Given the description of an element on the screen output the (x, y) to click on. 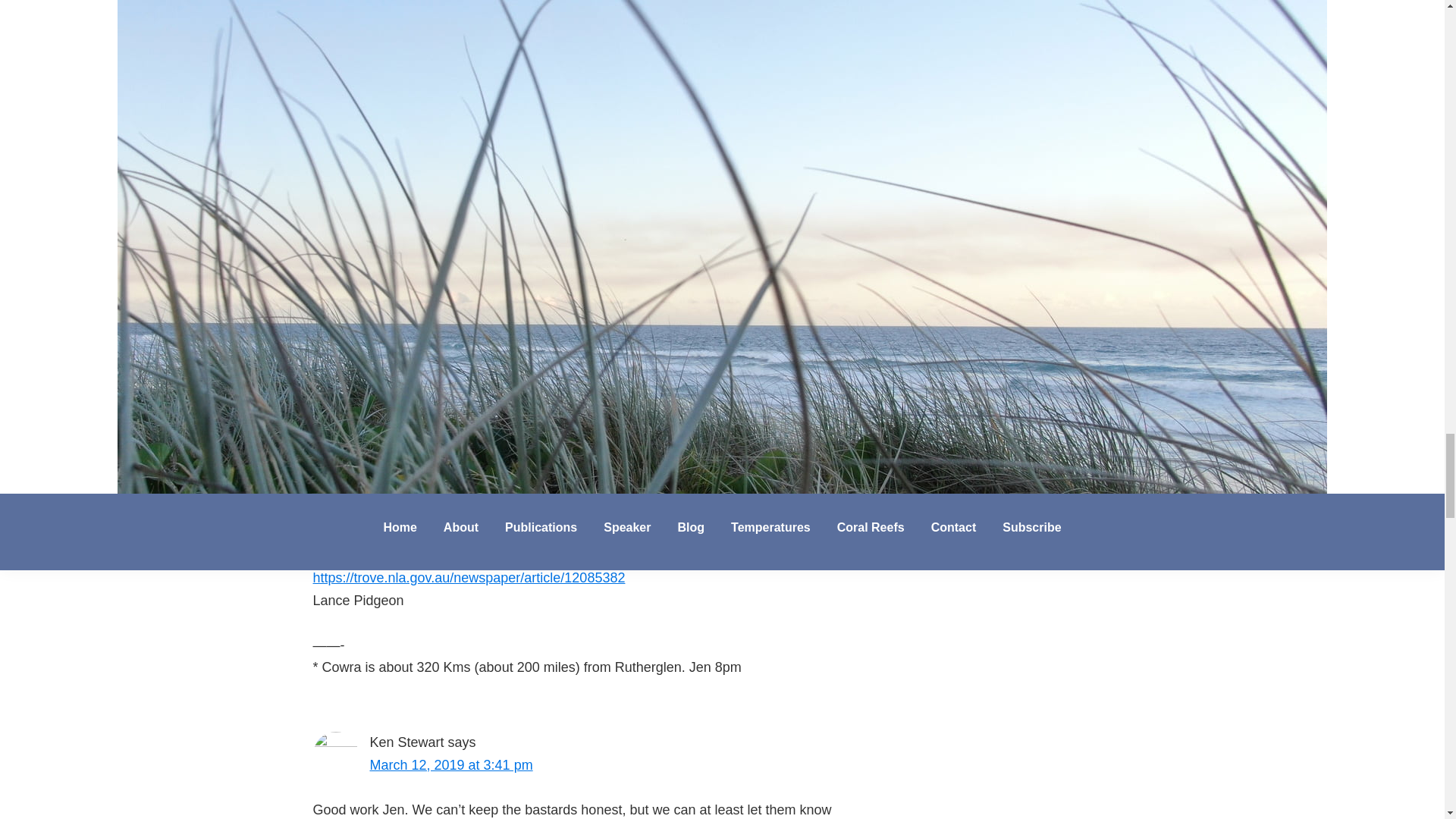
Share (337, 54)
March 12, 2019 at 3:41 pm (450, 765)
Share (443, 54)
Temperatures (491, 132)
March 12, 2019 at 2:18 pm (450, 288)
Information (411, 113)
temperates (416, 132)
Share (389, 54)
News (464, 113)
